Given the description of an element on the screen output the (x, y) to click on. 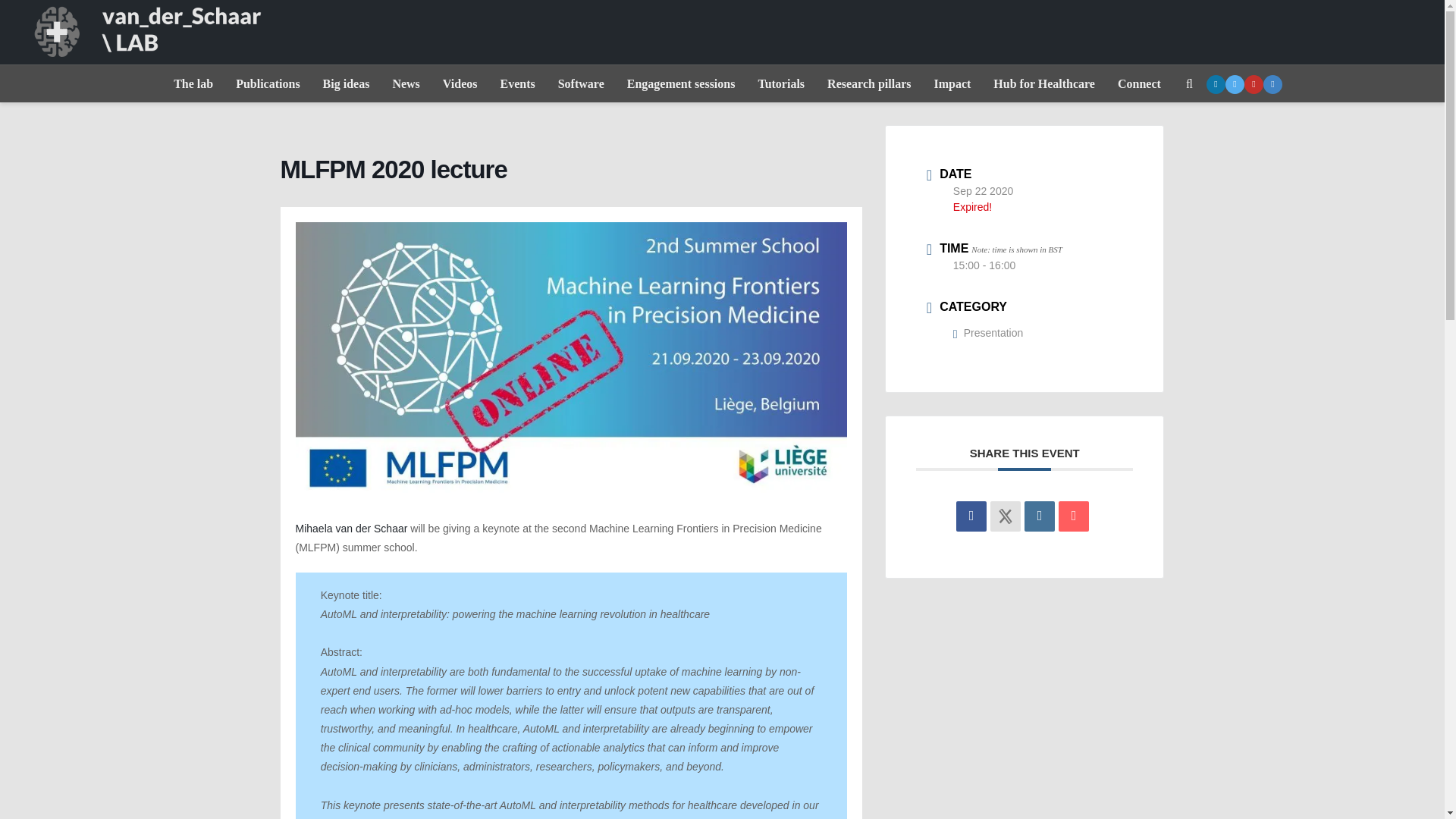
Events (516, 84)
Tutorials (780, 84)
Software (581, 84)
News (405, 84)
Engagement sessions (680, 84)
X Social Network (1005, 516)
Linkedin (1039, 516)
The lab (192, 84)
Research pillars (868, 84)
Publications (267, 84)
